Given the description of an element on the screen output the (x, y) to click on. 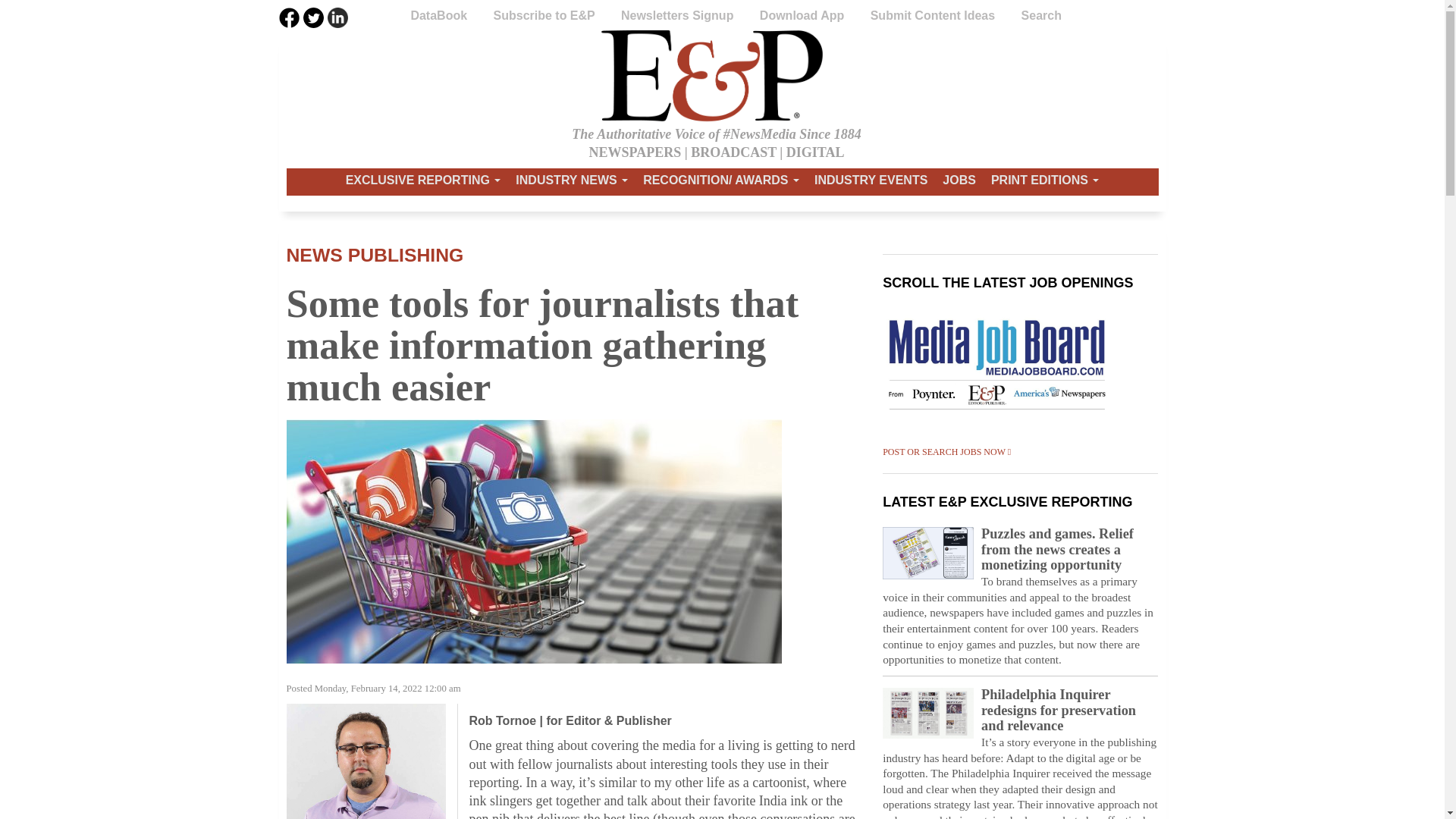
EXCLUSIVE REPORTING (423, 179)
Newsletters Signup (678, 20)
DataBook (440, 20)
Submit Content Ideas (934, 20)
INDUSTRY NEWS (571, 179)
Download App (803, 20)
Search (1041, 20)
